Given the description of an element on the screen output the (x, y) to click on. 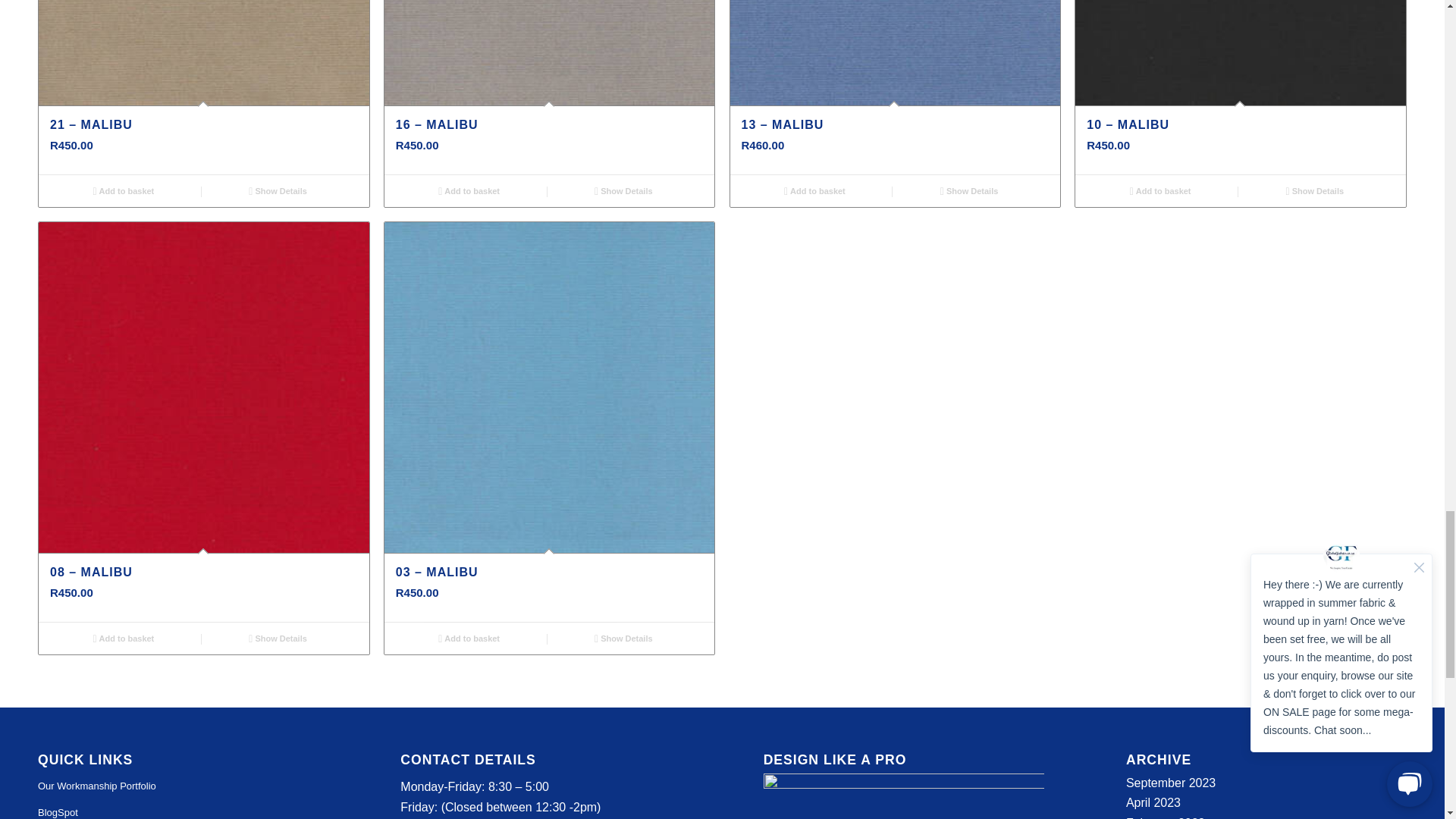
Design Like a Pro (902, 796)
